Given the description of an element on the screen output the (x, y) to click on. 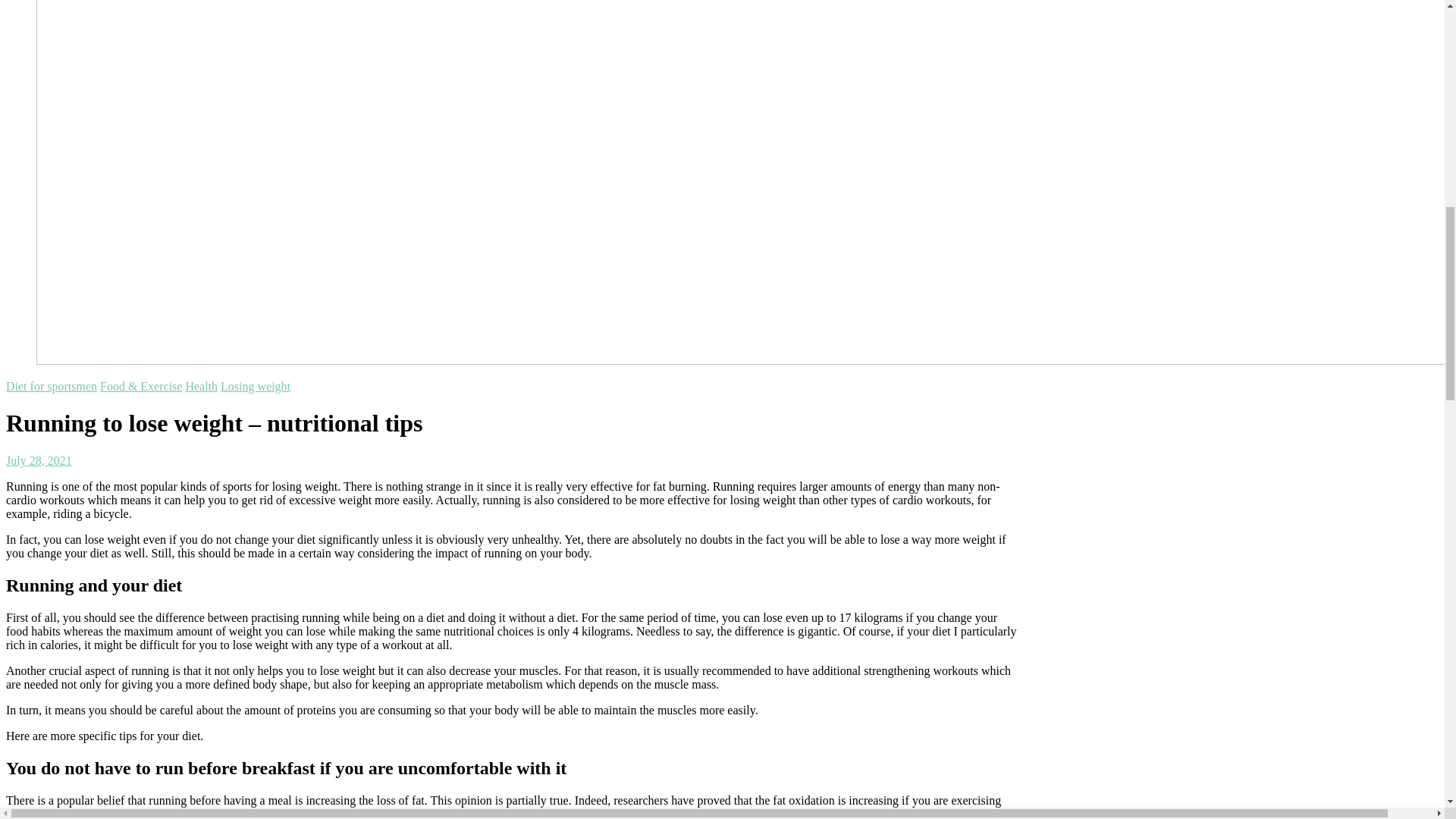
July 28, 2021 (38, 460)
Losing weight (255, 386)
Health (200, 386)
Diet for sportsmen (51, 386)
